Given the description of an element on the screen output the (x, y) to click on. 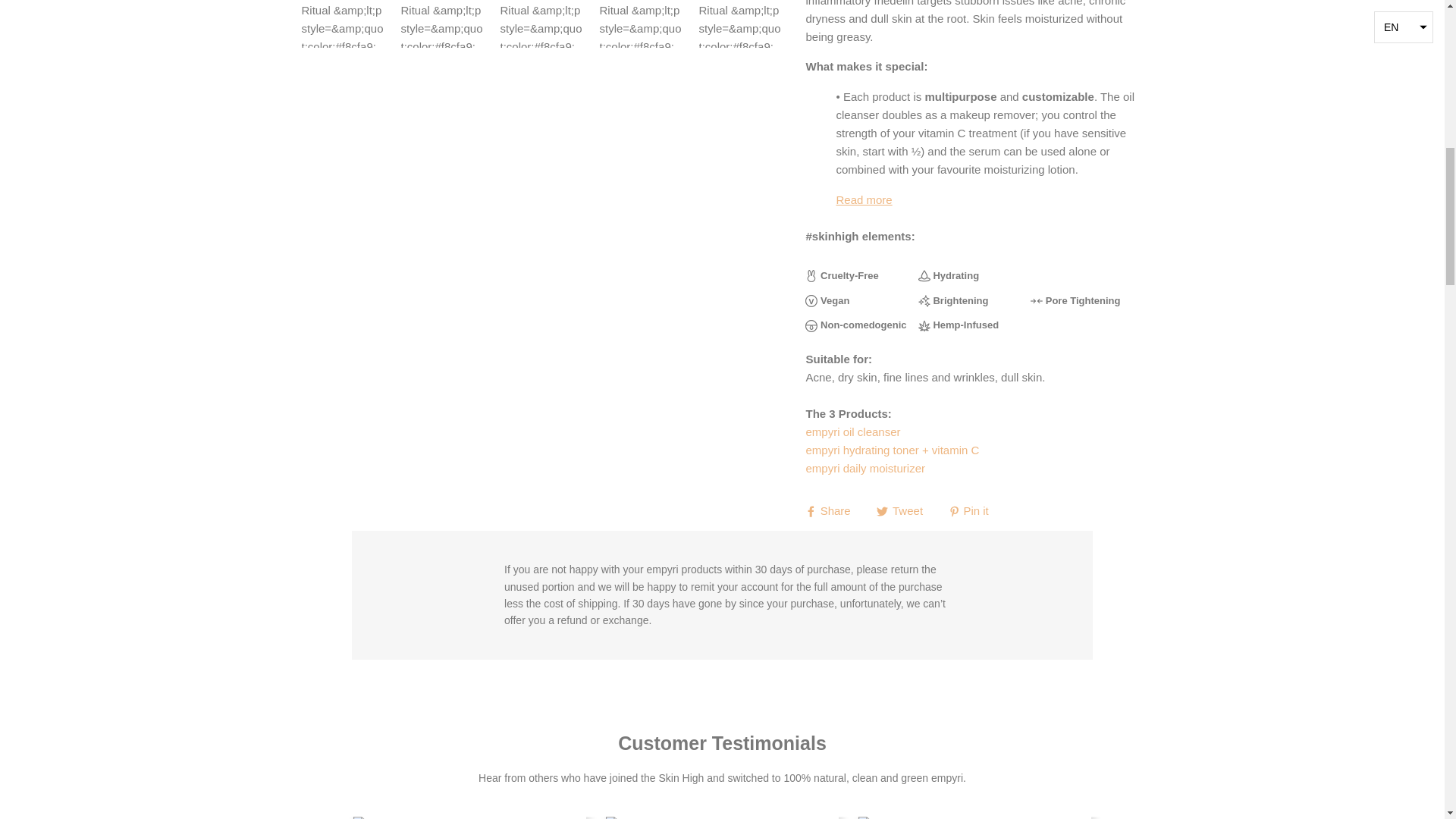
empyri daily moisturizer (864, 468)
Read more (973, 199)
empyri oil cleanser (852, 431)
